Given the description of an element on the screen output the (x, y) to click on. 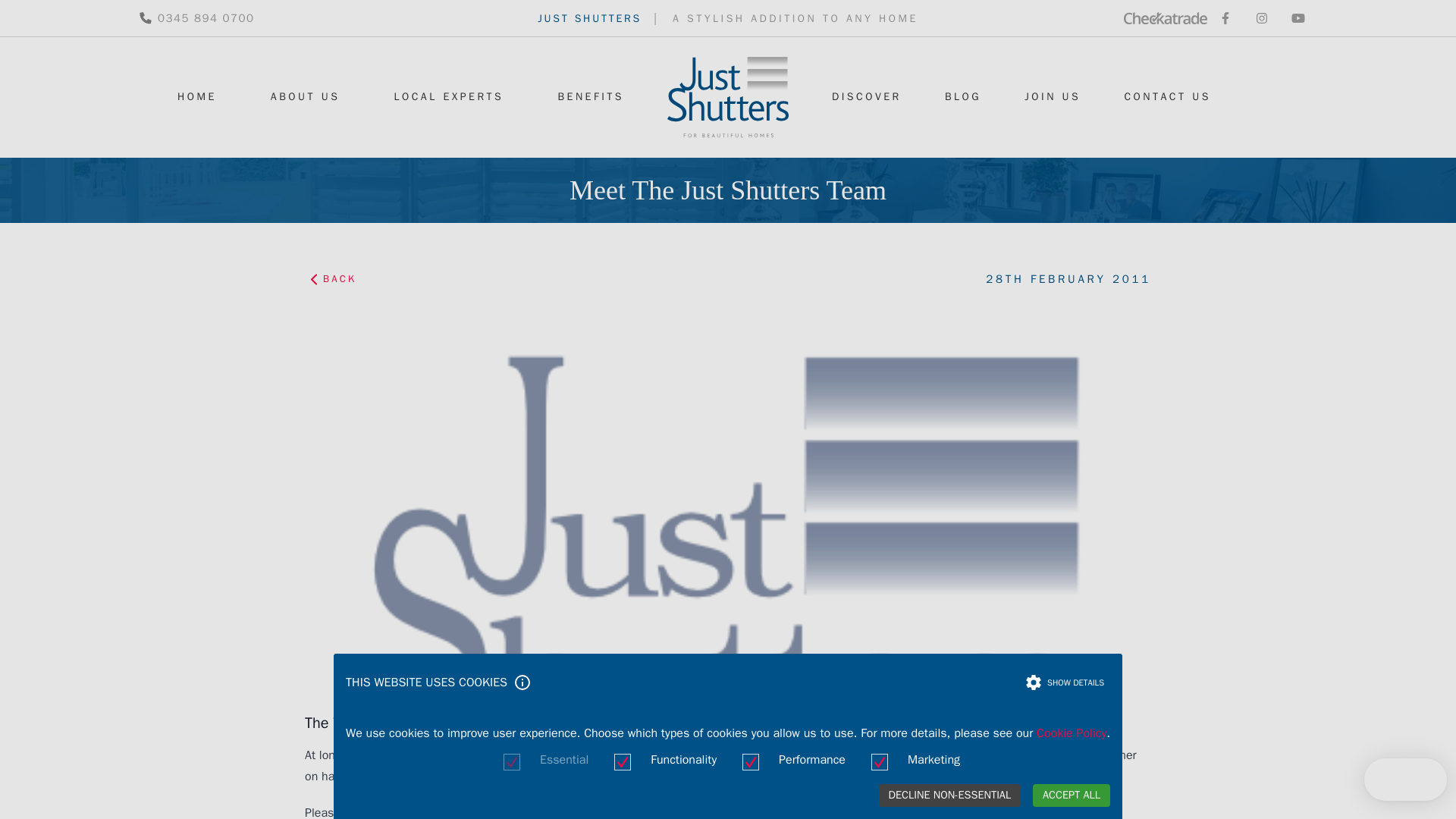
HOME (196, 97)
BLOG (962, 97)
JUST SHUTTERS (589, 18)
JOIN US (1052, 97)
0345 894 0700 (196, 17)
Smartsupp widget button (1405, 779)
www.dysonphoto.co.uk (927, 776)
ABOUT US (305, 97)
Just Shutters Team (418, 810)
BACK (336, 278)
DISCOVER (866, 97)
BENEFITS (590, 97)
CONTACT US (1166, 97)
LOCAL EXPERTS (448, 97)
